Given the description of an element on the screen output the (x, y) to click on. 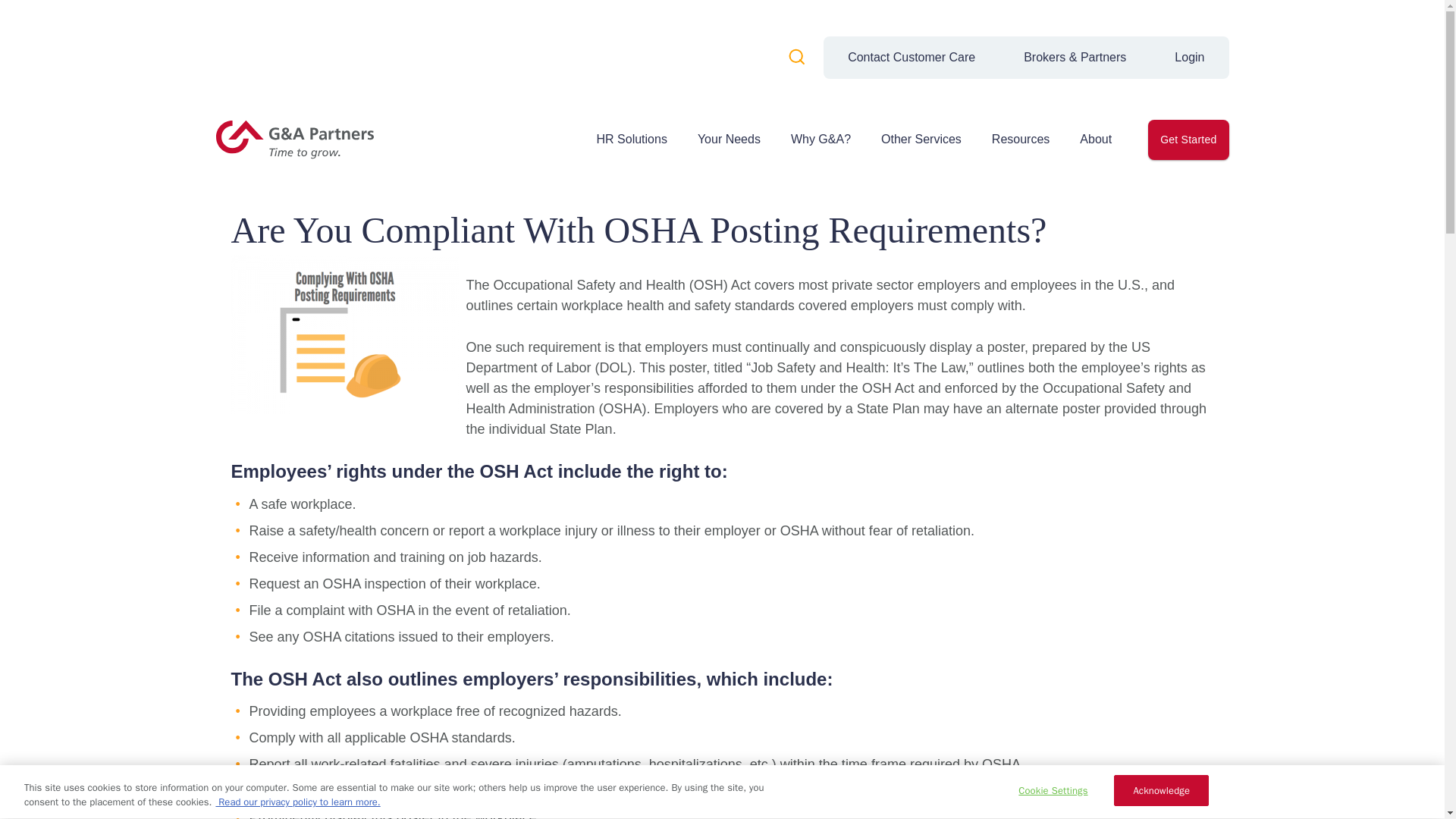
HR Solutions (630, 139)
Other Services (920, 139)
Resources (1020, 139)
Contact Customer Care (911, 57)
Your Needs (728, 139)
Login (1189, 57)
